Given the description of an element on the screen output the (x, y) to click on. 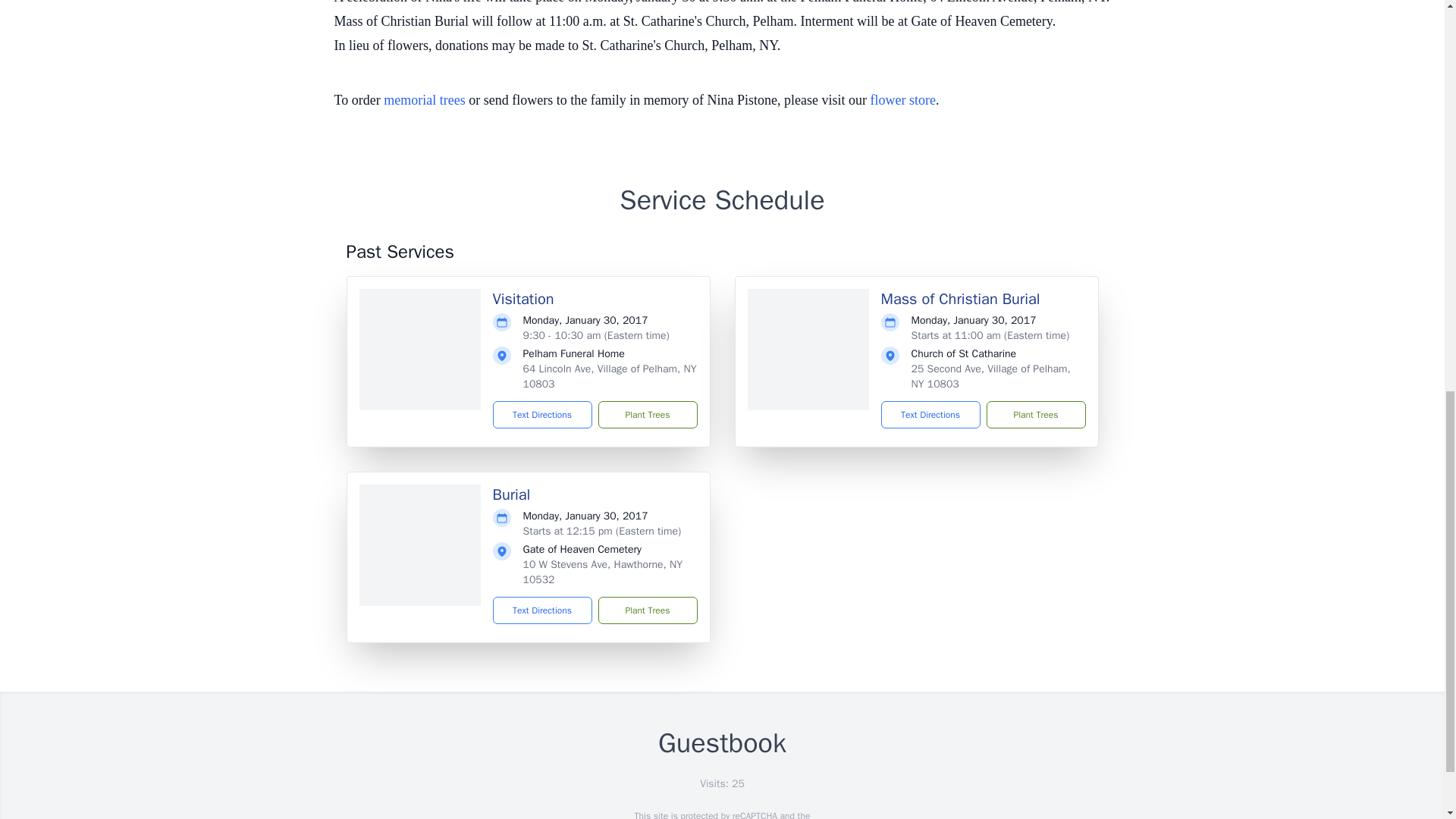
Text Directions (929, 414)
10 W Stevens Ave, Hawthorne, NY 10532 (602, 571)
25 Second Ave, Village of Pelham, NY 10803 (990, 376)
64 Lincoln Ave, Village of Pelham, NY 10803 (609, 376)
Text Directions (542, 610)
Plant Trees (646, 414)
Text Directions (542, 414)
Plant Trees (646, 610)
Plant Trees (1034, 414)
memorial trees (424, 99)
